Given the description of an element on the screen output the (x, y) to click on. 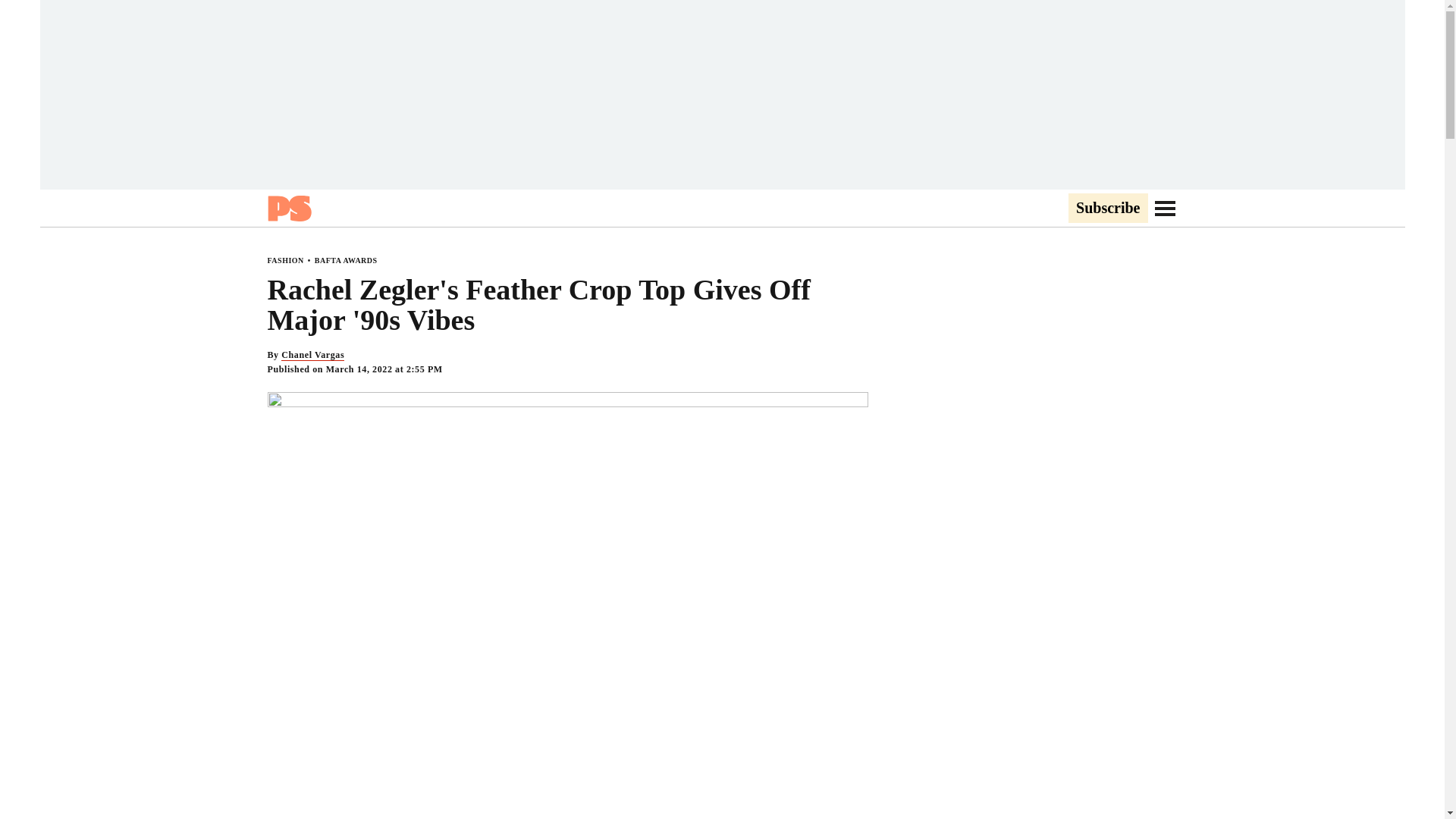
Chanel Vargas (312, 355)
Subscribe (1107, 208)
BAFTA AWARDS (345, 260)
FASHION (284, 260)
Go to Navigation (1164, 207)
Popsugar (288, 208)
Go to Navigation (1164, 207)
